Given the description of an element on the screen output the (x, y) to click on. 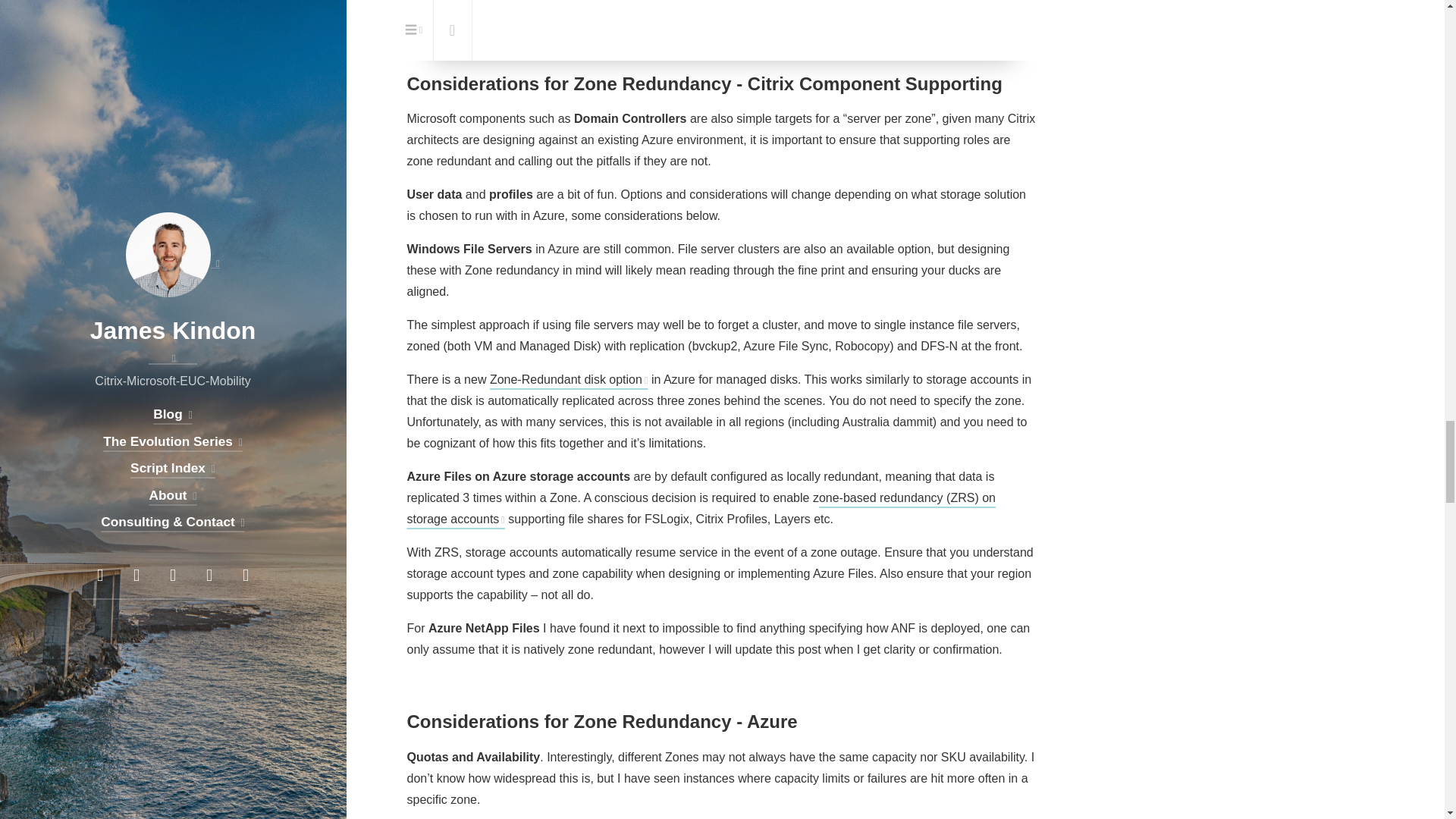
Zone-Redundant disk option (568, 379)
